Given the description of an element on the screen output the (x, y) to click on. 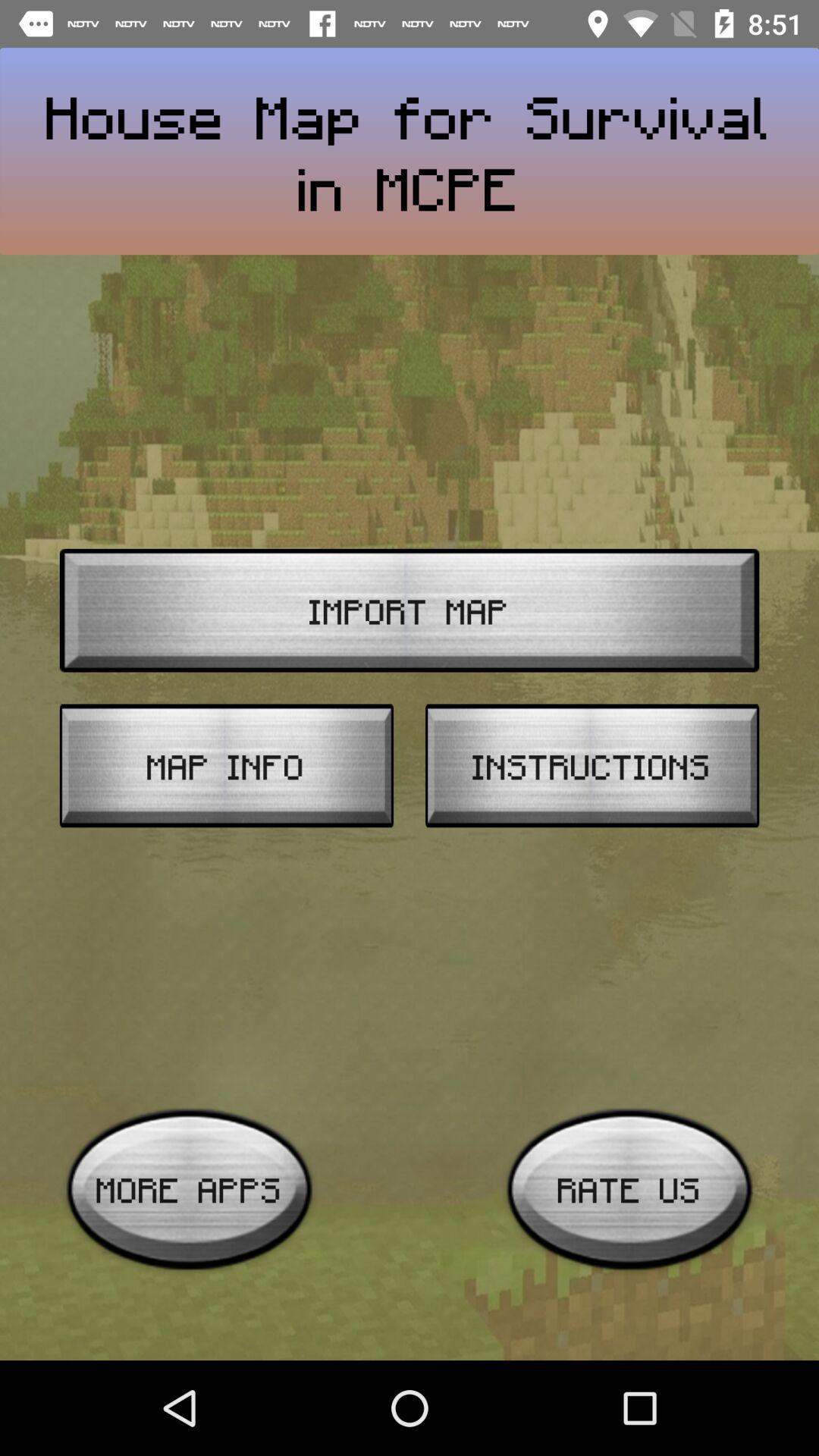
press the item at the bottom left corner (189, 1188)
